Given the description of an element on the screen output the (x, y) to click on. 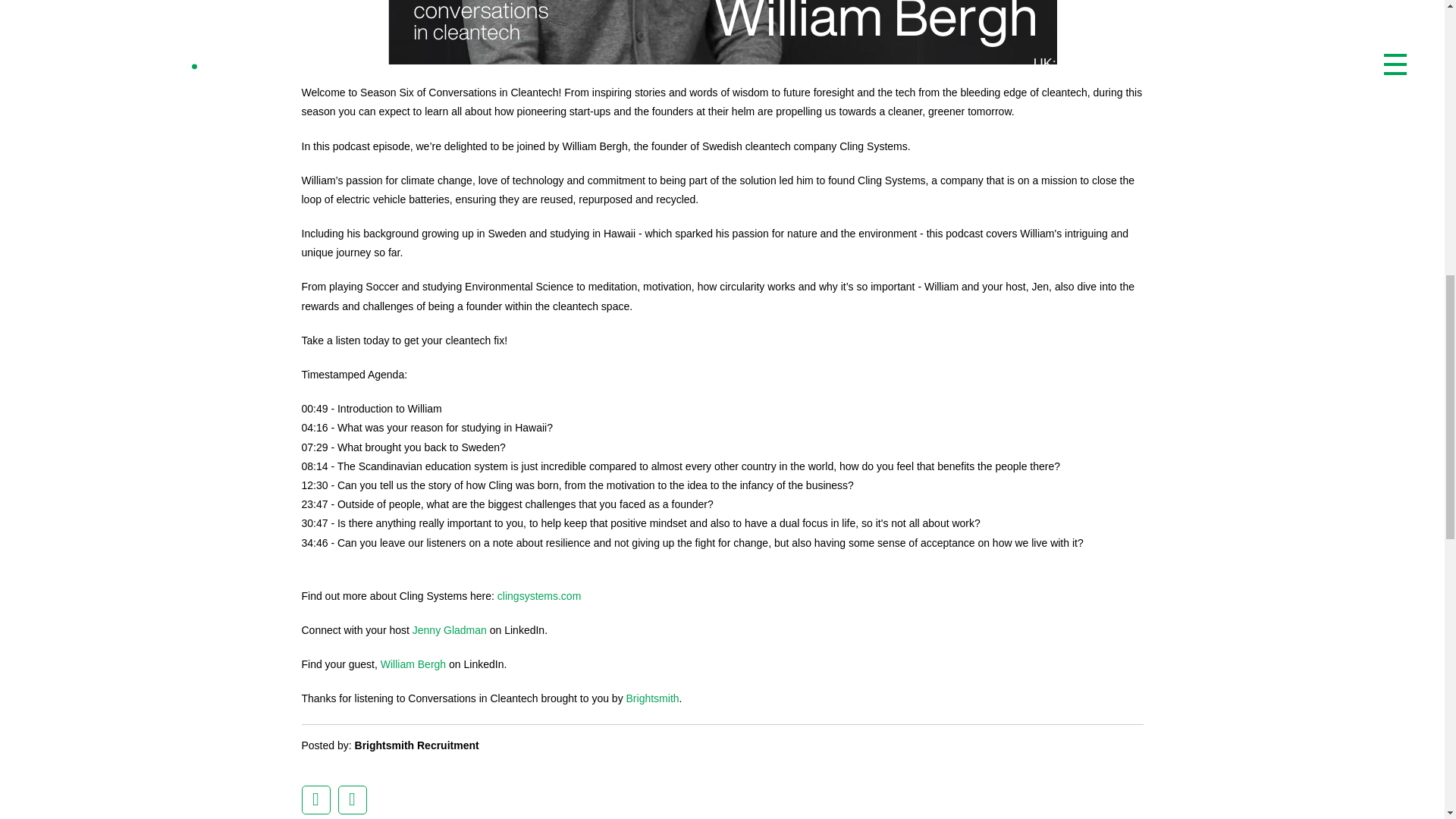
 Brightsmith (651, 698)
Jenny Gladman (449, 630)
William Bergh (412, 664)
clingsystems.com (538, 595)
